Given the description of an element on the screen output the (x, y) to click on. 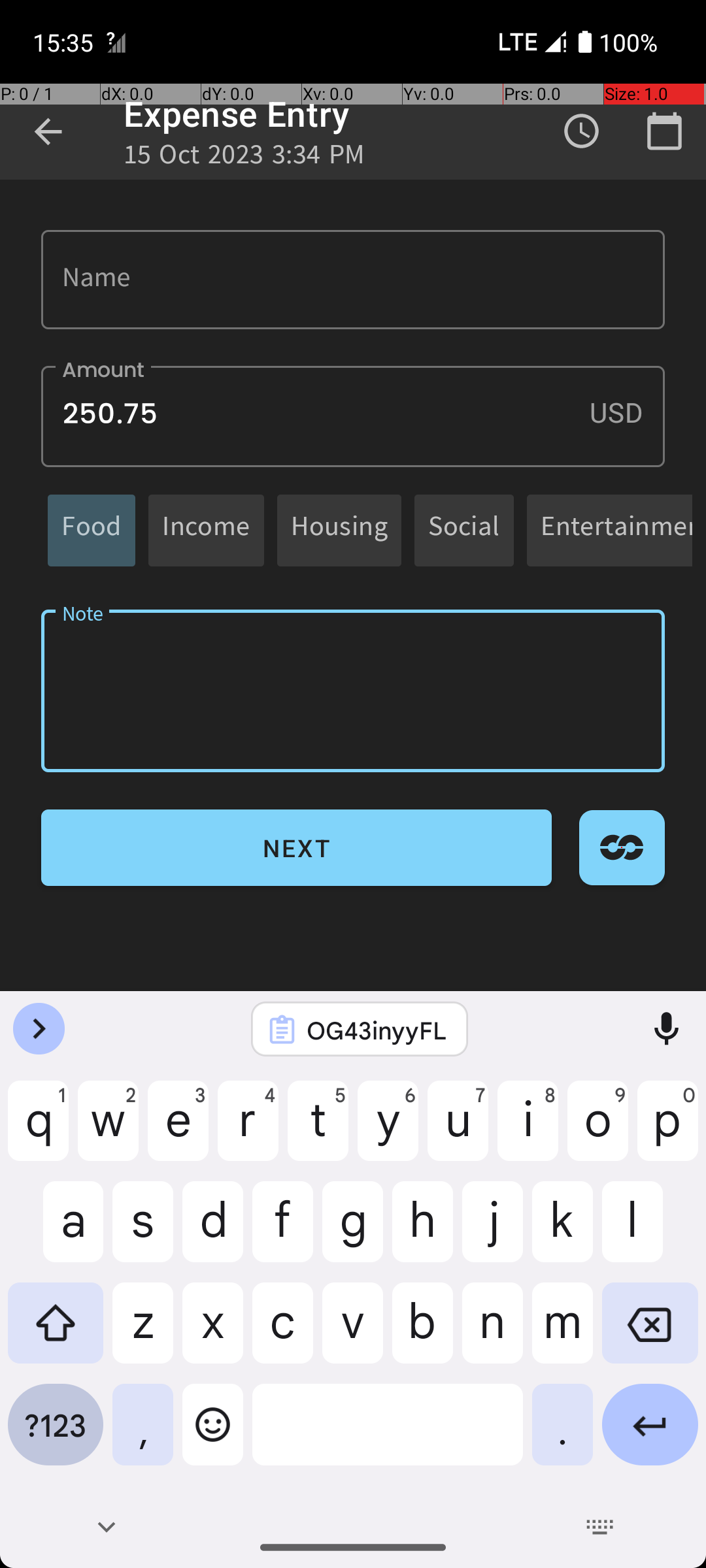
250.75 Element type: android.widget.EditText (352, 416)
NEXT Element type: android.widget.Button (296, 847)
OG43inyyFL Element type: android.widget.TextView (376, 1029)
